Given the description of an element on the screen output the (x, y) to click on. 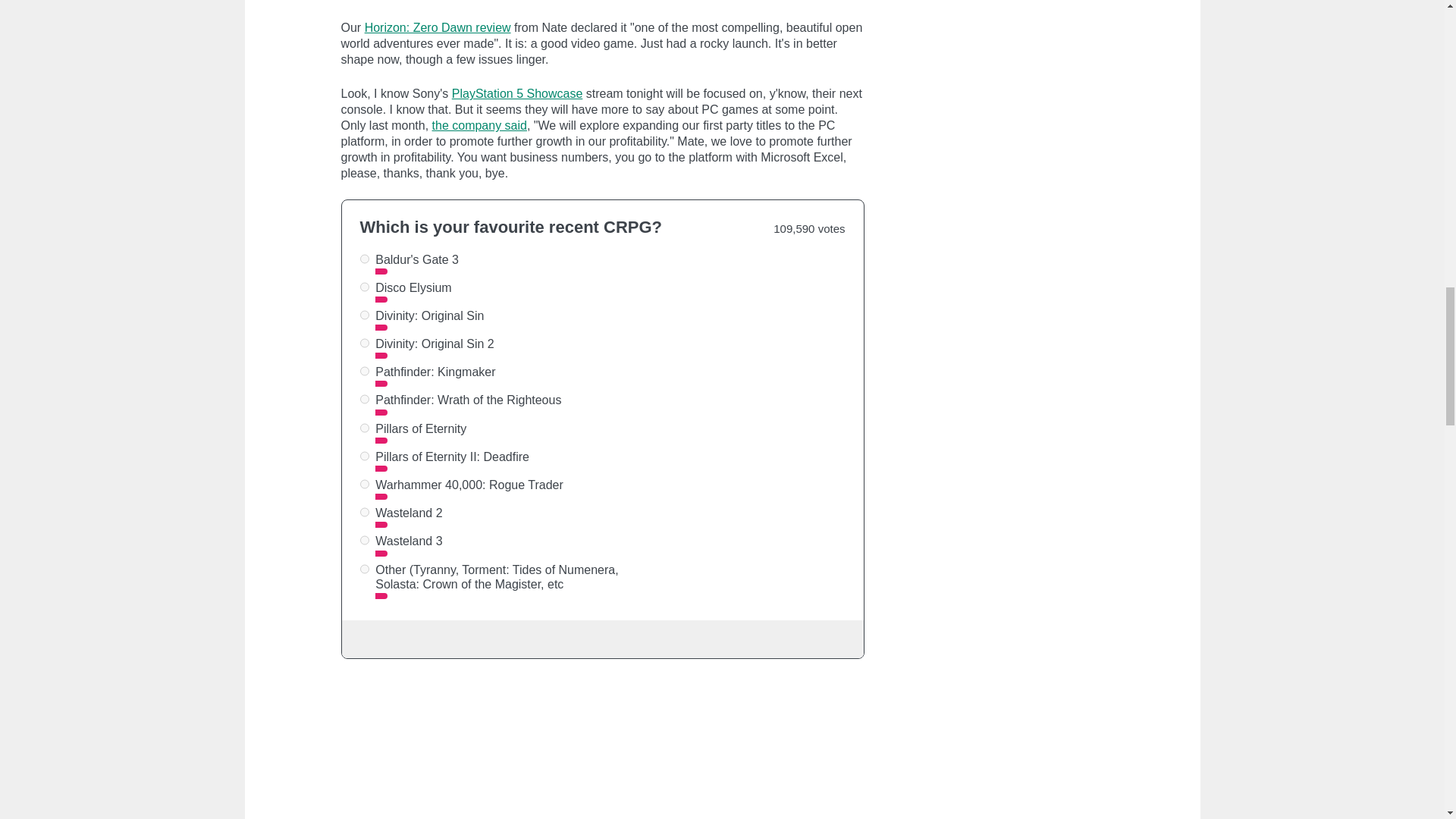
Horizon: Zero Dawn review (438, 27)
on (364, 315)
on (364, 540)
PlayStation 5 Showcase (517, 92)
on (364, 483)
on (364, 428)
on (364, 456)
on (364, 286)
on (364, 258)
on (364, 569)
on (364, 511)
on (364, 343)
on (364, 398)
on (364, 370)
